Given the description of an element on the screen output the (x, y) to click on. 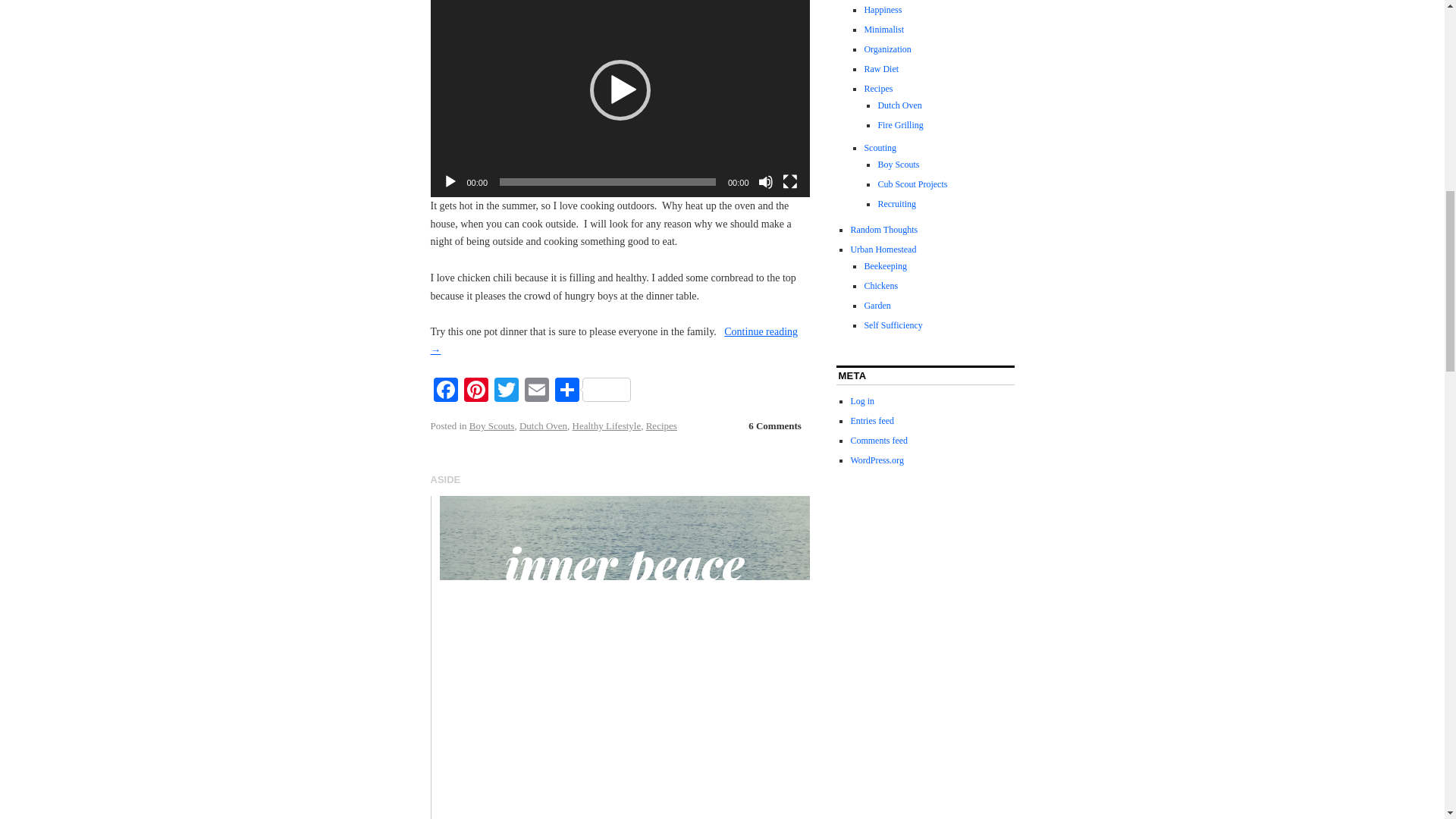
Mute (765, 181)
Twitter (506, 391)
Pinterest (476, 391)
Play (450, 181)
Fullscreen (790, 181)
All Aside posts (445, 479)
Email (536, 391)
Facebook (445, 391)
